Given the description of an element on the screen output the (x, y) to click on. 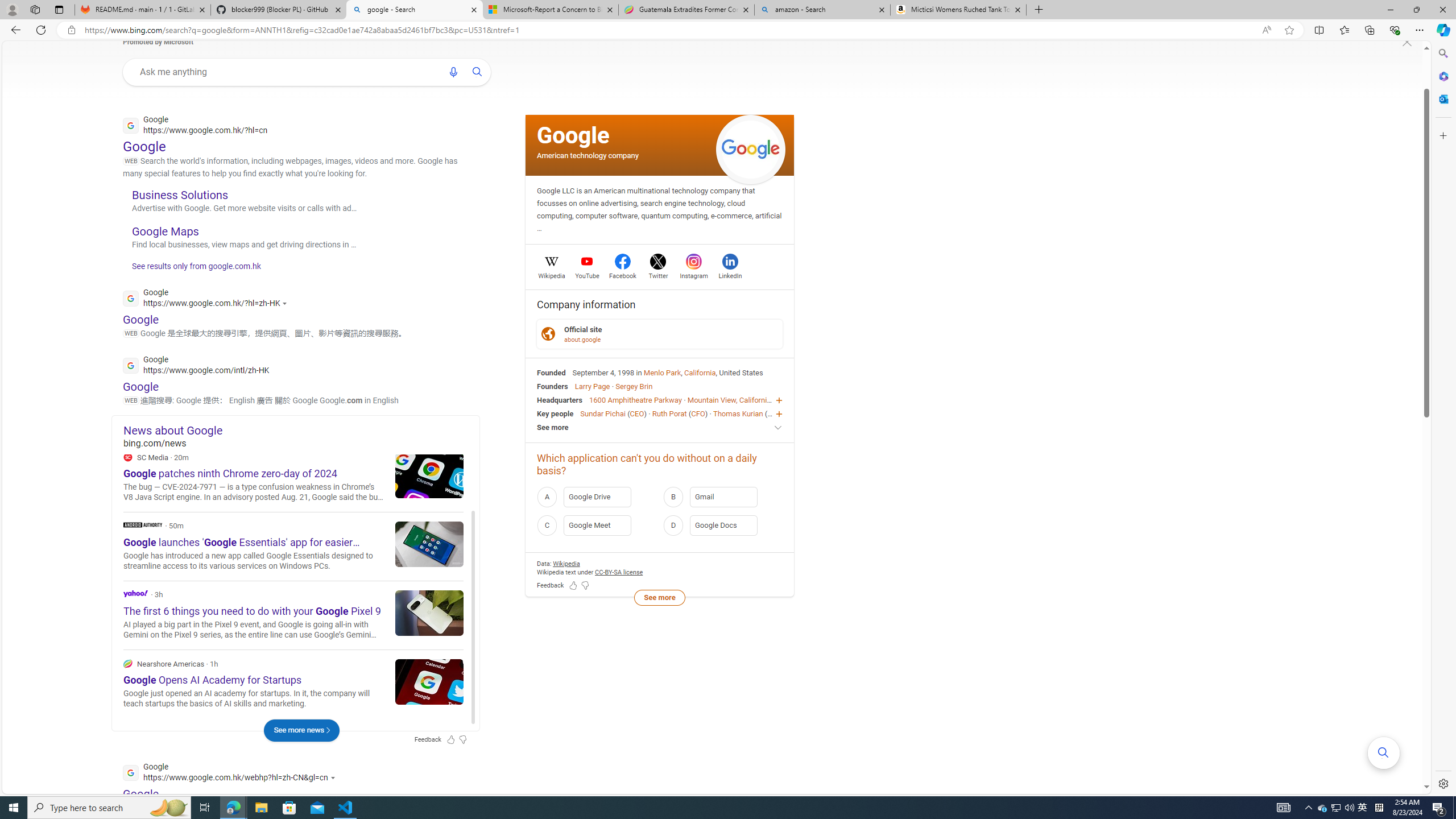
B Gmail (722, 496)
Official siteabout.google (660, 333)
Sergey Brin (633, 385)
